Given the description of an element on the screen output the (x, y) to click on. 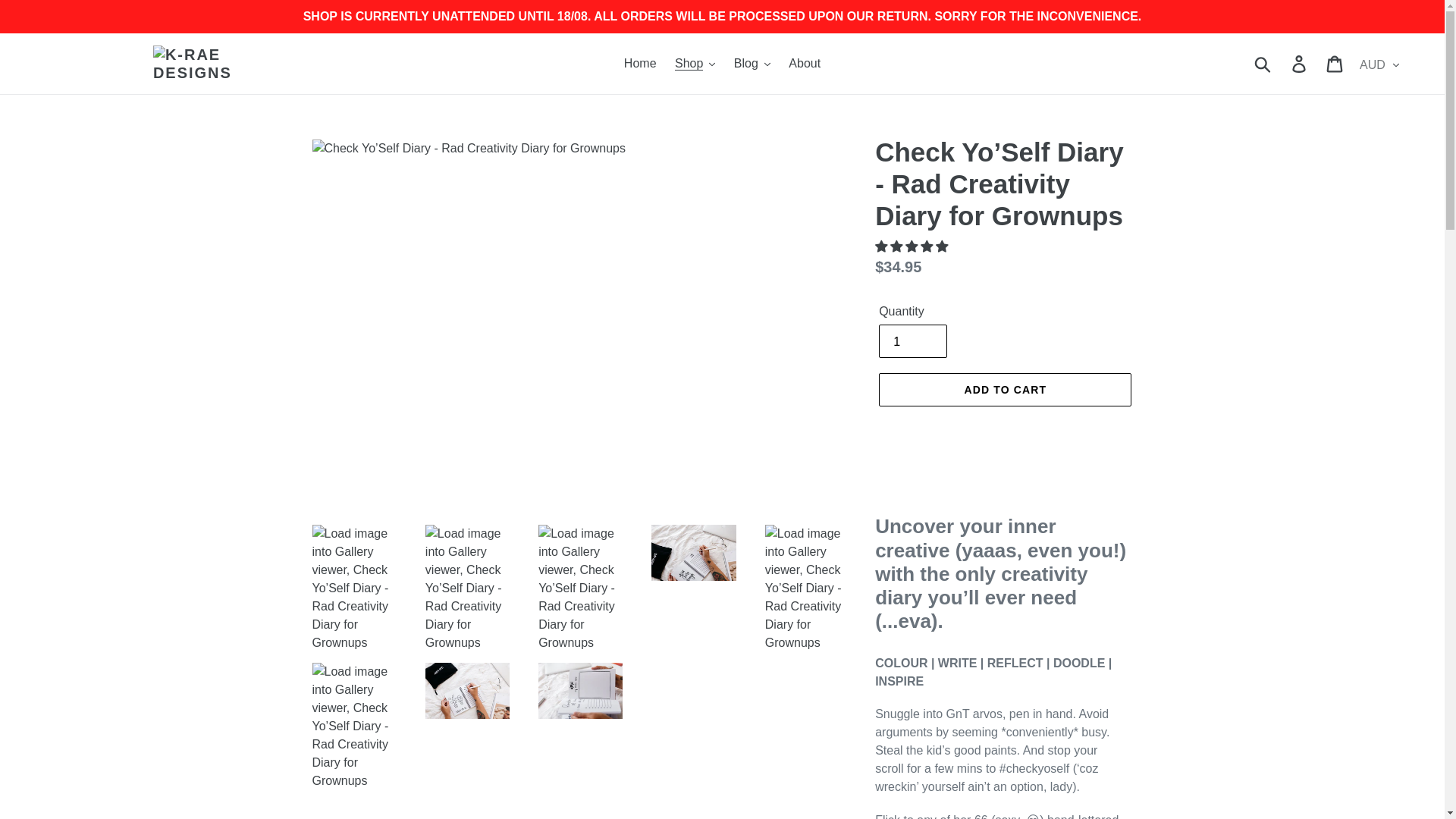
About (804, 63)
1 (913, 340)
Home (639, 63)
